Given the description of an element on the screen output the (x, y) to click on. 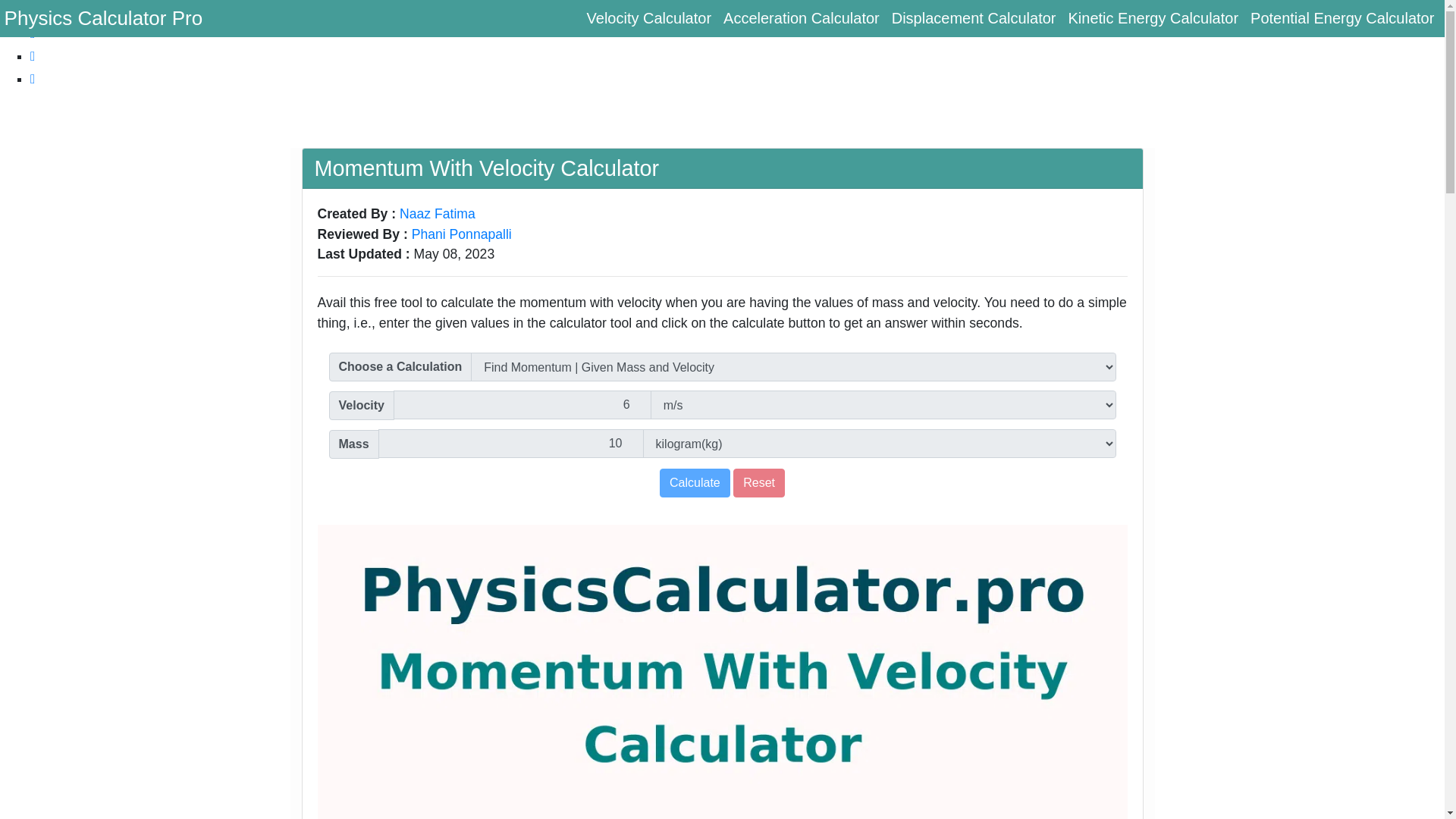
6 (521, 404)
Calculate (694, 482)
Acceleration Calculator (801, 18)
Potential Energy Calculator (1341, 18)
Reset (758, 482)
10 (510, 443)
Velocity Calculator (648, 18)
Displacement Calculator (973, 18)
Kinetic Energy Calculator (1152, 18)
Naaz Fatima (437, 213)
Phani Ponnapalli (462, 233)
Physics Calculator Pro (103, 18)
